Given the description of an element on the screen output the (x, y) to click on. 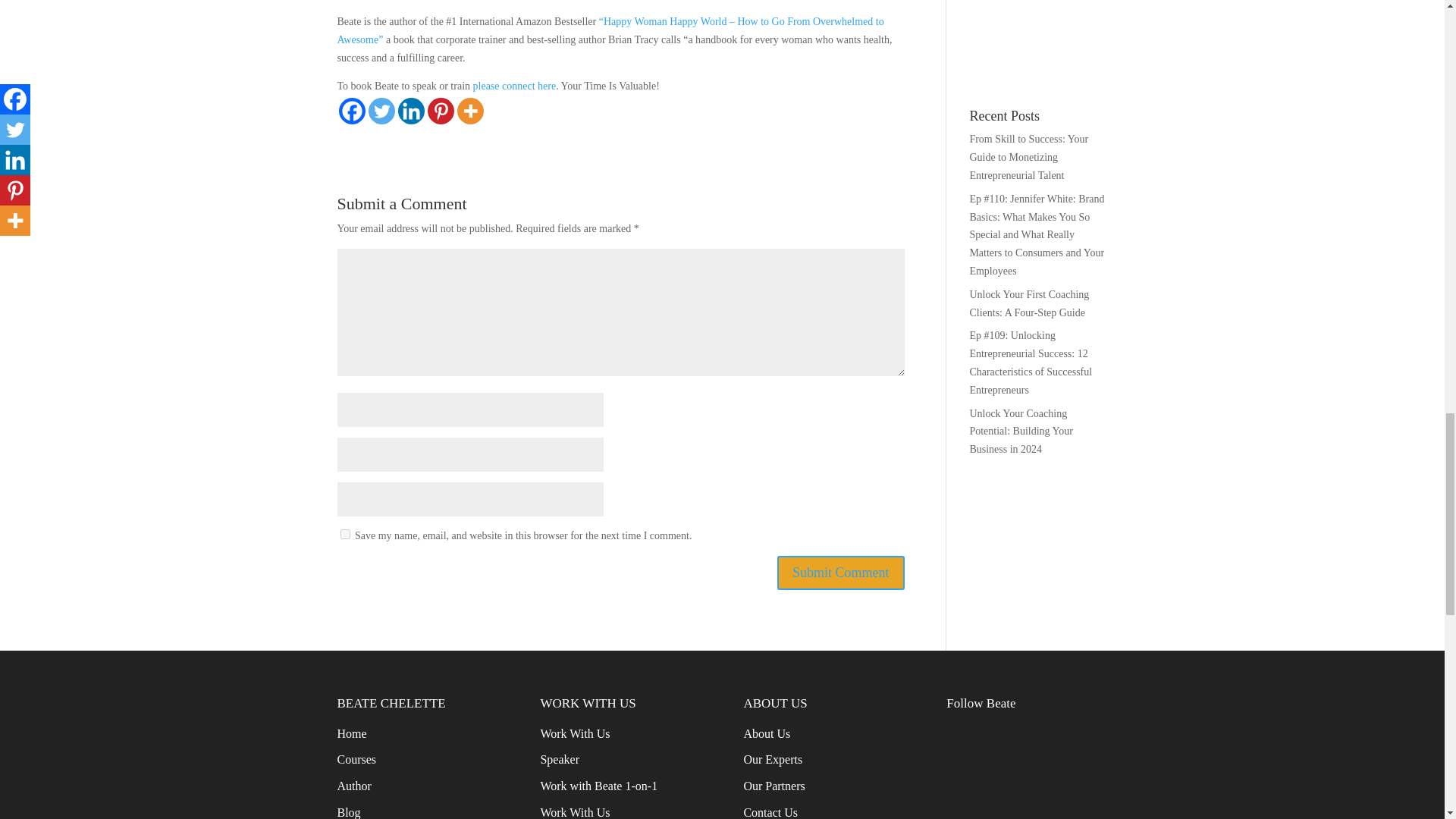
Facebook (351, 110)
Twitter (381, 110)
Submit Comment (840, 572)
Linkedin (410, 110)
More (470, 110)
Pinterest (441, 110)
yes (344, 533)
